Given the description of an element on the screen output the (x, y) to click on. 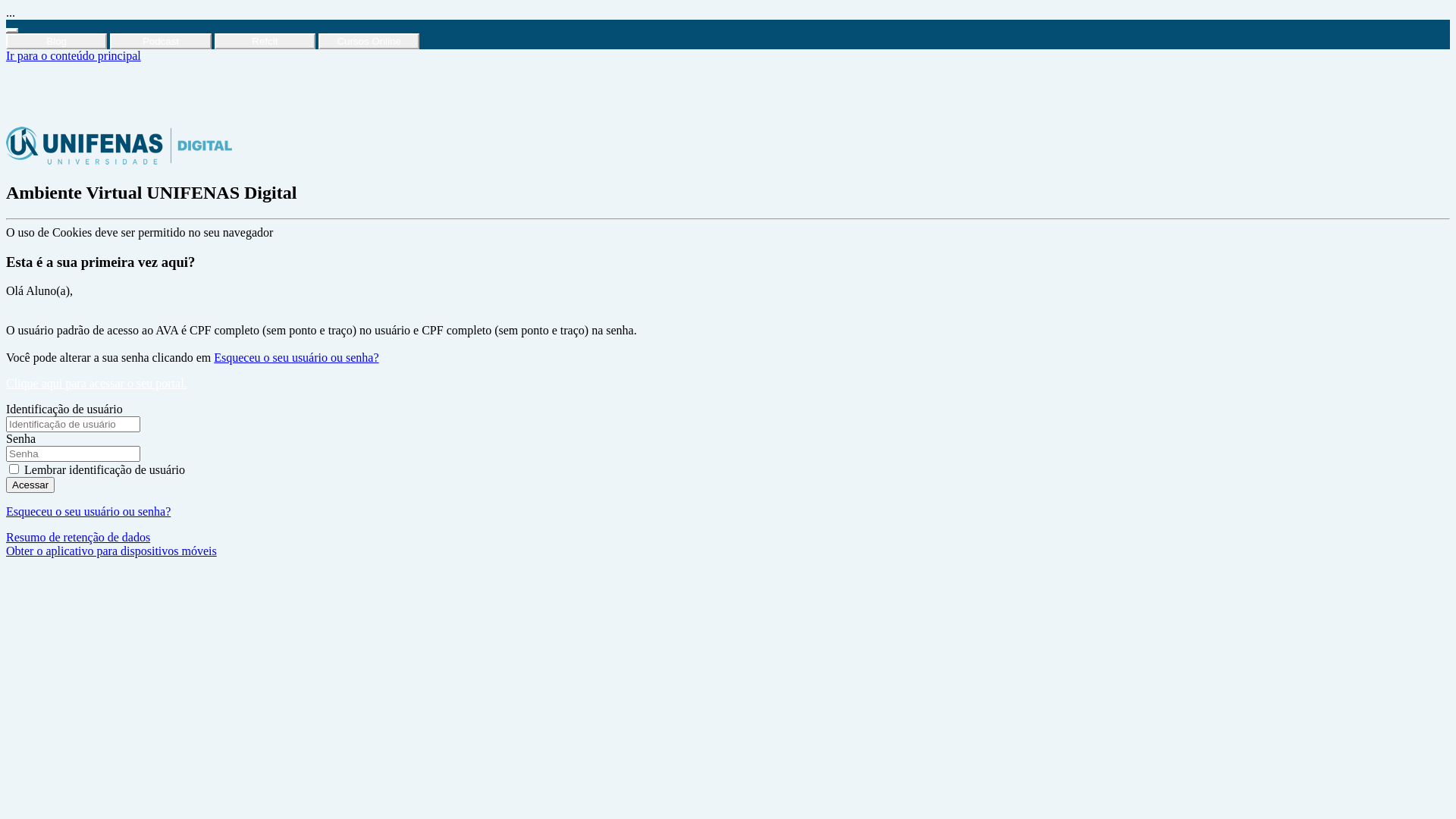
Clique aqui para acessar o seu portal. Element type: text (96, 382)
Acessar Element type: text (30, 484)
Cursos Online Element type: text (368, 41)
Podcast Element type: text (159, 41)
Ambiente Virtual UNIFENAS Digital Element type: hover (119, 145)
Refcit Element type: text (264, 41)
Blog Element type: text (56, 41)
